Given the description of an element on the screen output the (x, y) to click on. 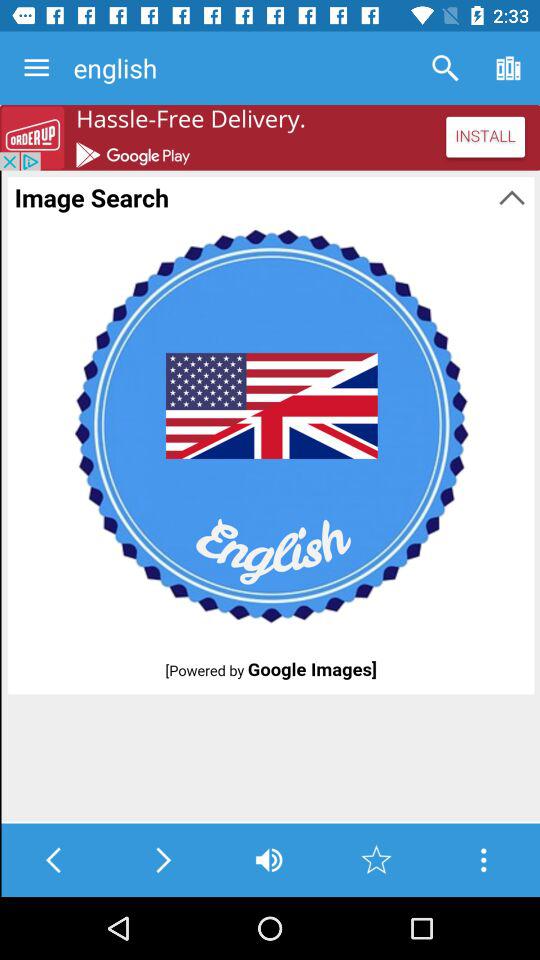
go to previous (54, 859)
